Given the description of an element on the screen output the (x, y) to click on. 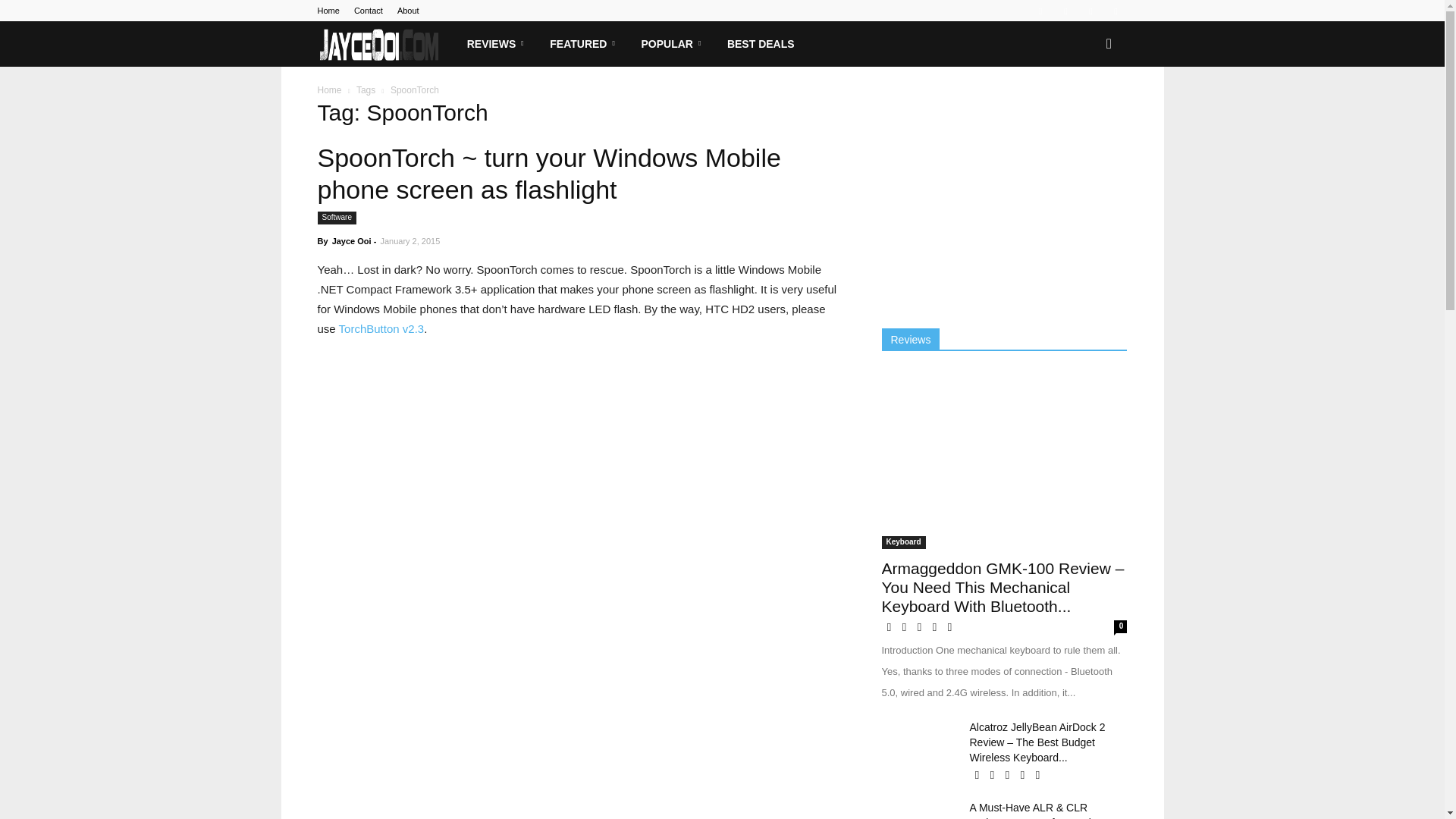
Twitter (1090, 10)
Facebook (1040, 10)
Youtube (1114, 10)
JayceOoi.com (379, 44)
Pinterest (1065, 10)
